Given the description of an element on the screen output the (x, y) to click on. 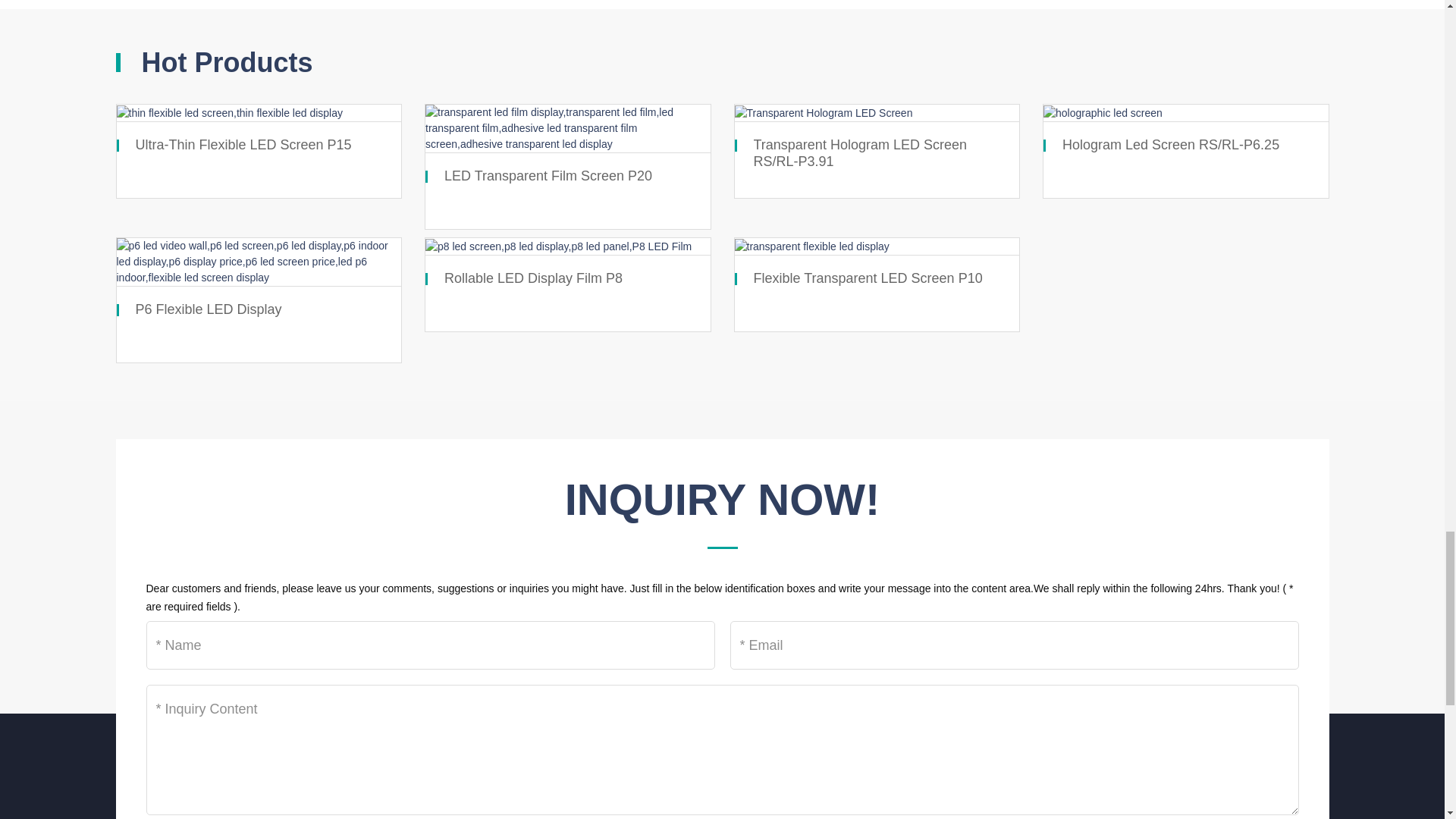
LED Transparent Film Screen P20 (548, 175)
Ultra-Thin Flexible LED Screen P15 (242, 144)
